Given the description of an element on the screen output the (x, y) to click on. 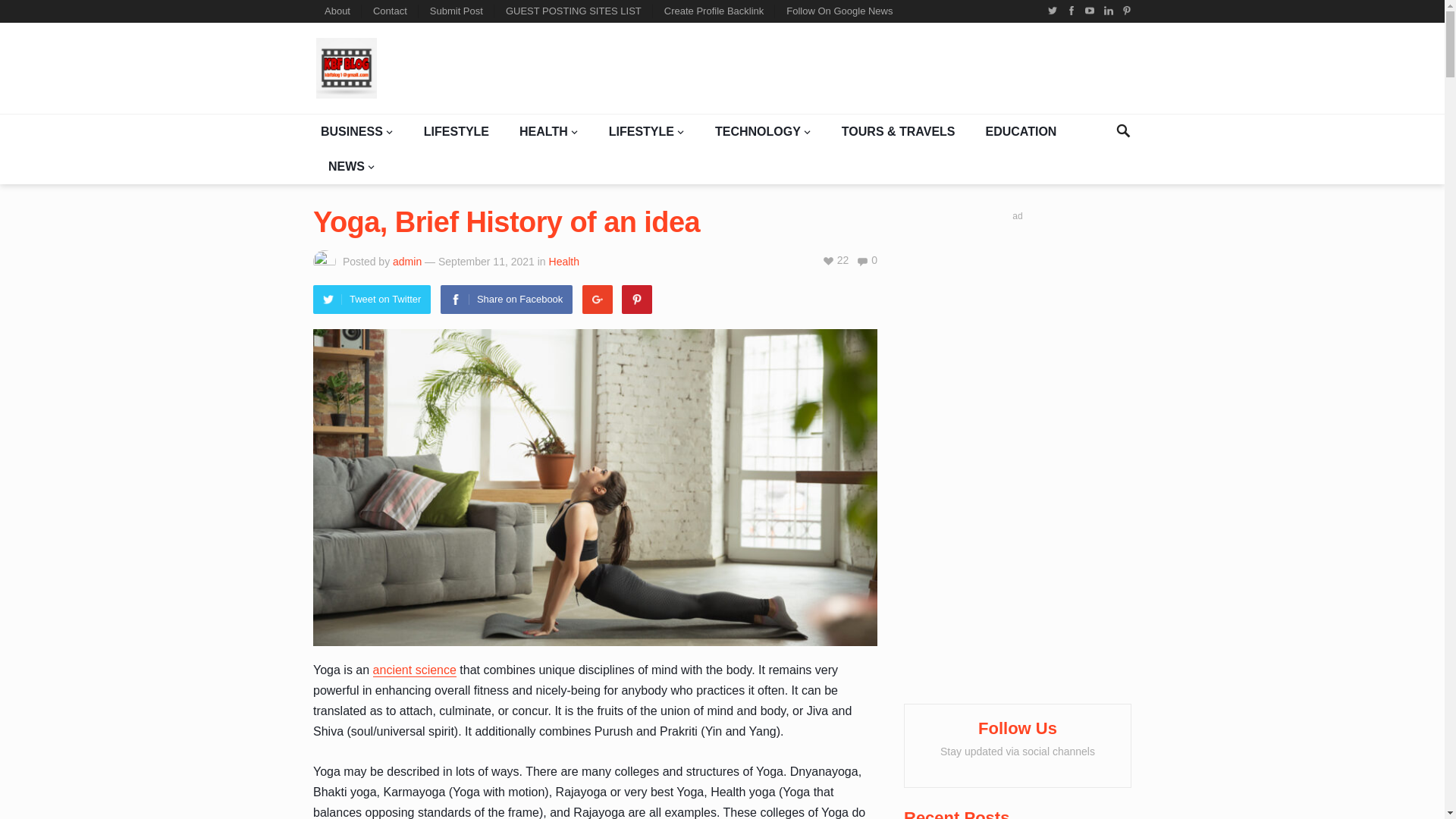
LIFESTYLE (647, 131)
About (337, 11)
Advertisement (1017, 457)
LIFESTYLE (456, 131)
Create Profile Backlink (714, 11)
GUEST POSTING SITES LIST (573, 11)
View all posts in Health (563, 261)
Follow On Google News (839, 11)
NEWS (351, 166)
Advertisement (855, 68)
TECHNOLOGY (762, 131)
BUSINESS (357, 131)
Contact (390, 11)
Like (835, 259)
EDUCATION (1021, 131)
